Given the description of an element on the screen output the (x, y) to click on. 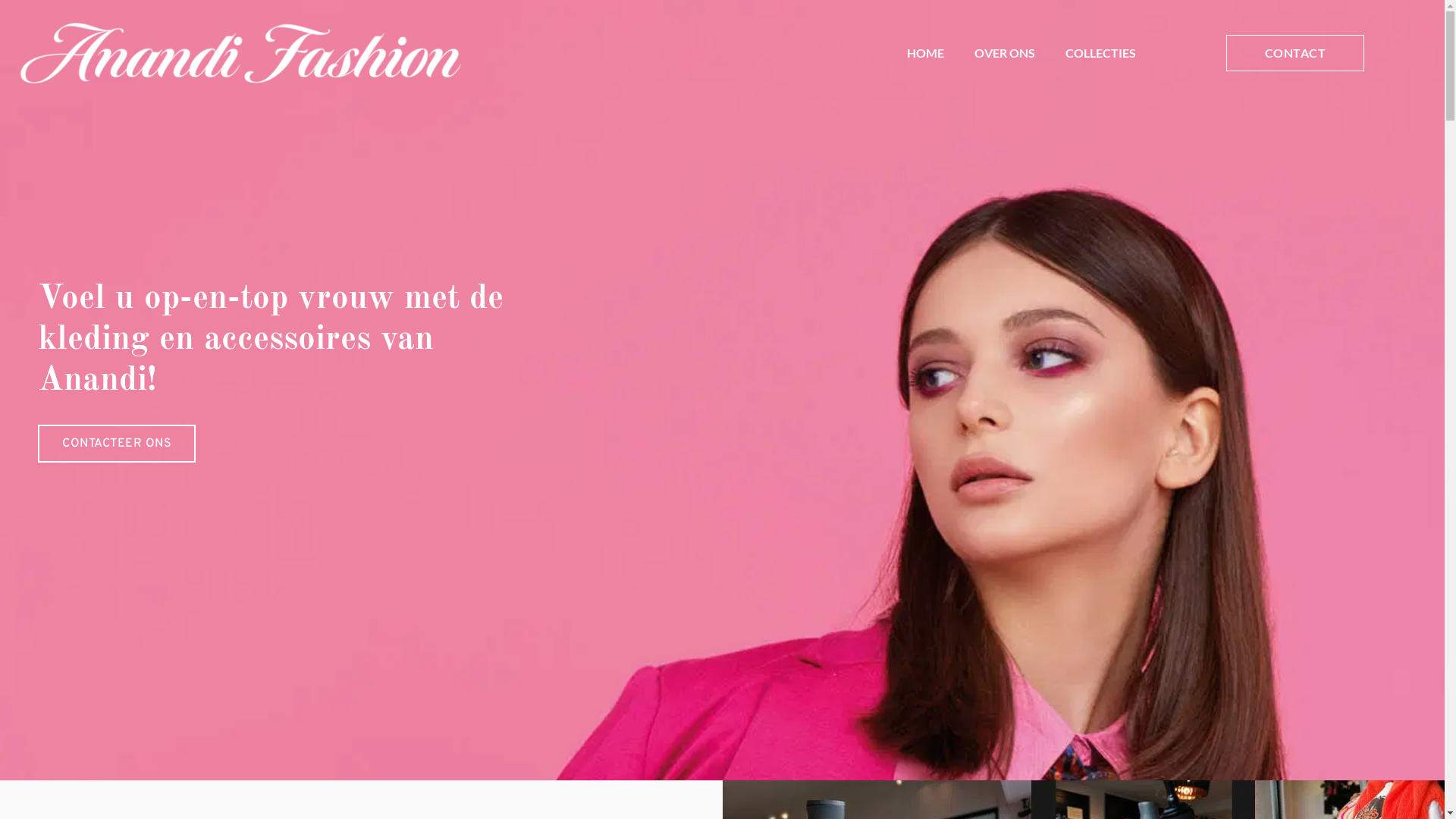
OVER ONS Element type: text (1004, 52)
CONTACT Element type: text (1295, 52)
CONTACTEER ONS Element type: text (116, 443)
HOME Element type: text (925, 52)
COLLECTIES Element type: text (1100, 52)
